Given the description of an element on the screen output the (x, y) to click on. 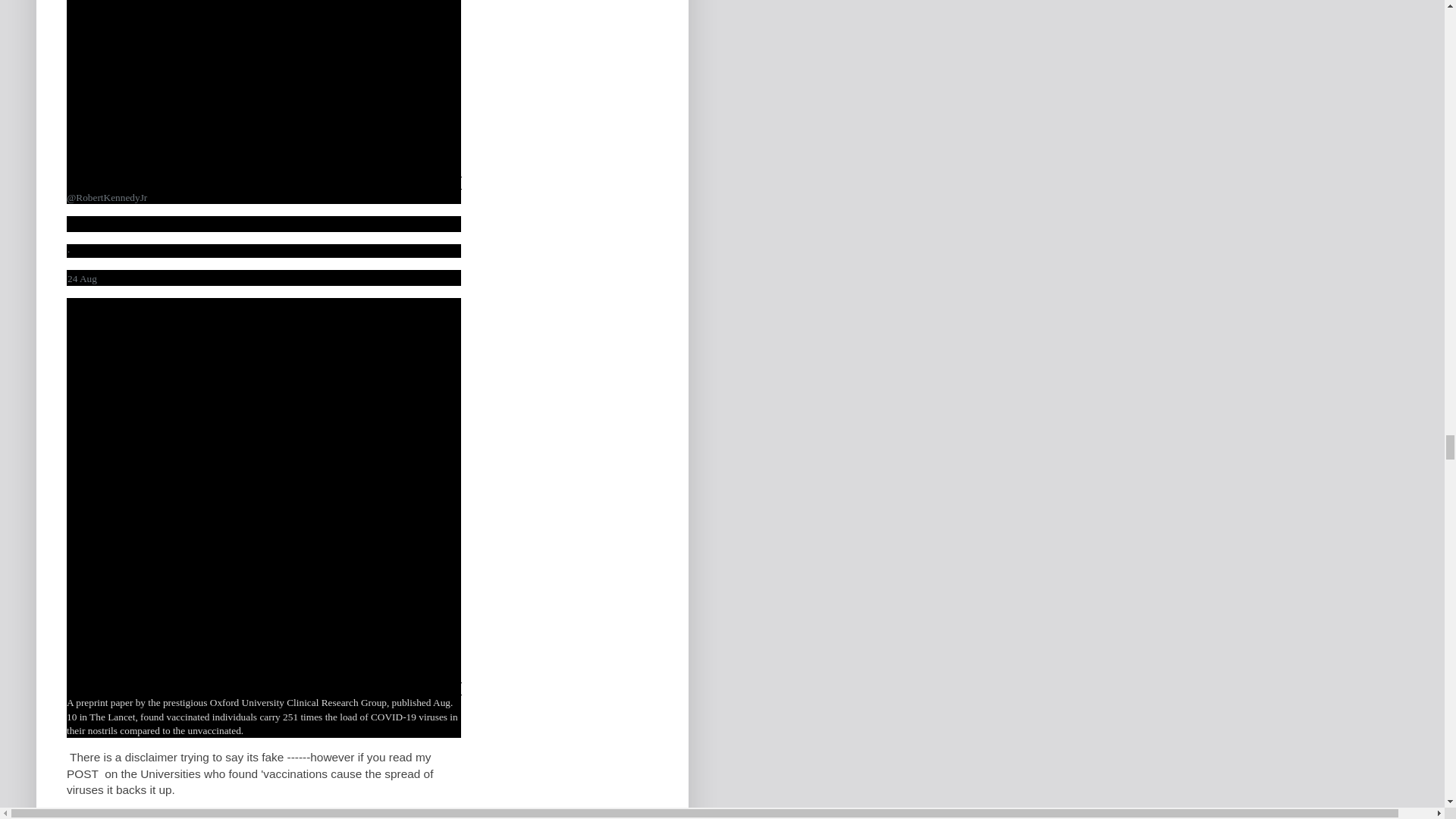
24 Aug (81, 278)
